Given the description of an element on the screen output the (x, y) to click on. 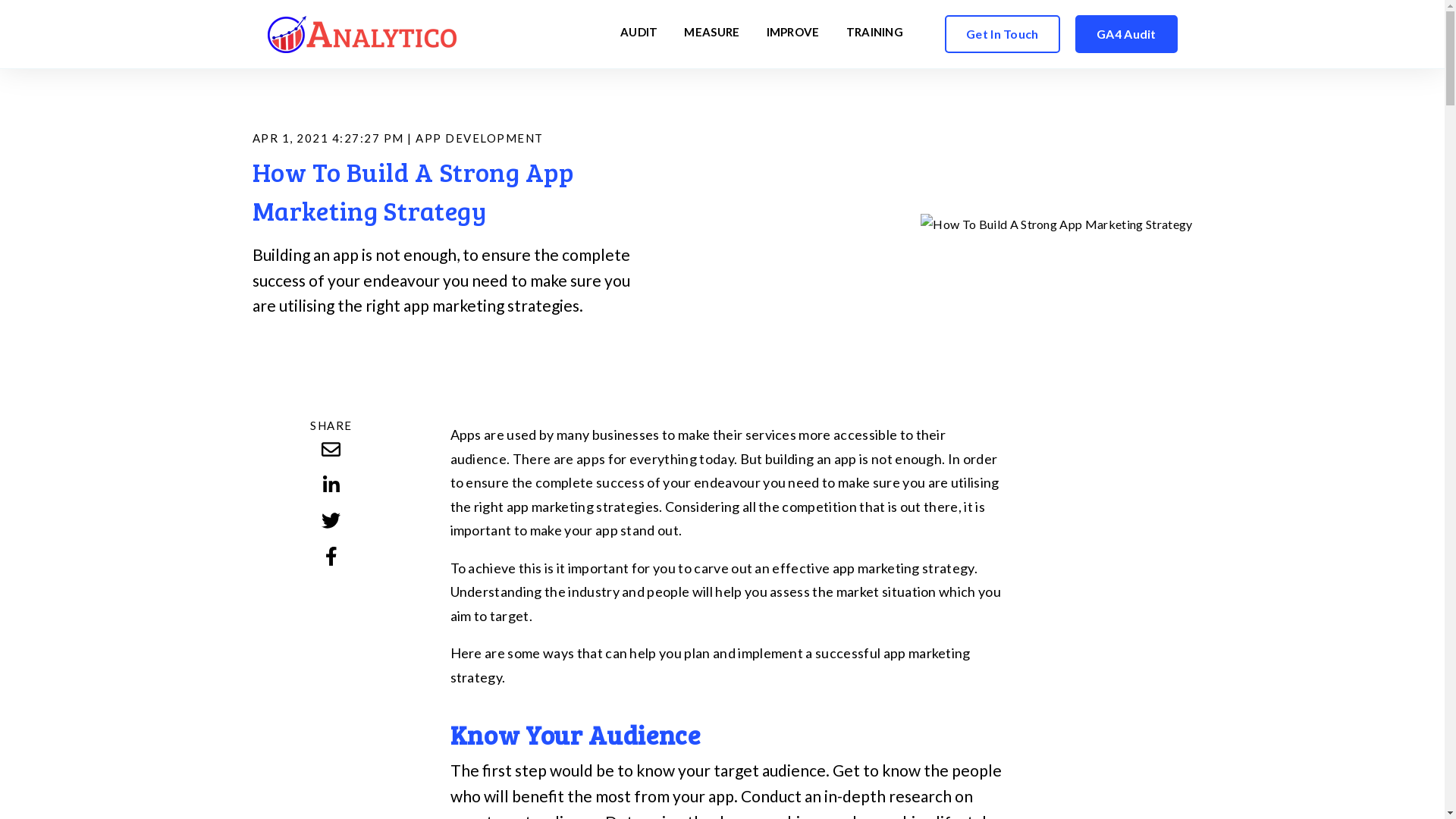
Get In Touch Element type: text (1002, 34)
TRAINING Element type: text (874, 33)
Analytico Element type: hover (360, 33)
IMPROVE Element type: text (792, 33)
APP DEVELOPMENT Element type: text (479, 137)
AUDIT Element type: text (639, 33)
MEASURE Element type: text (711, 33)
GA4 Audit Element type: text (1126, 34)
